Given the description of an element on the screen output the (x, y) to click on. 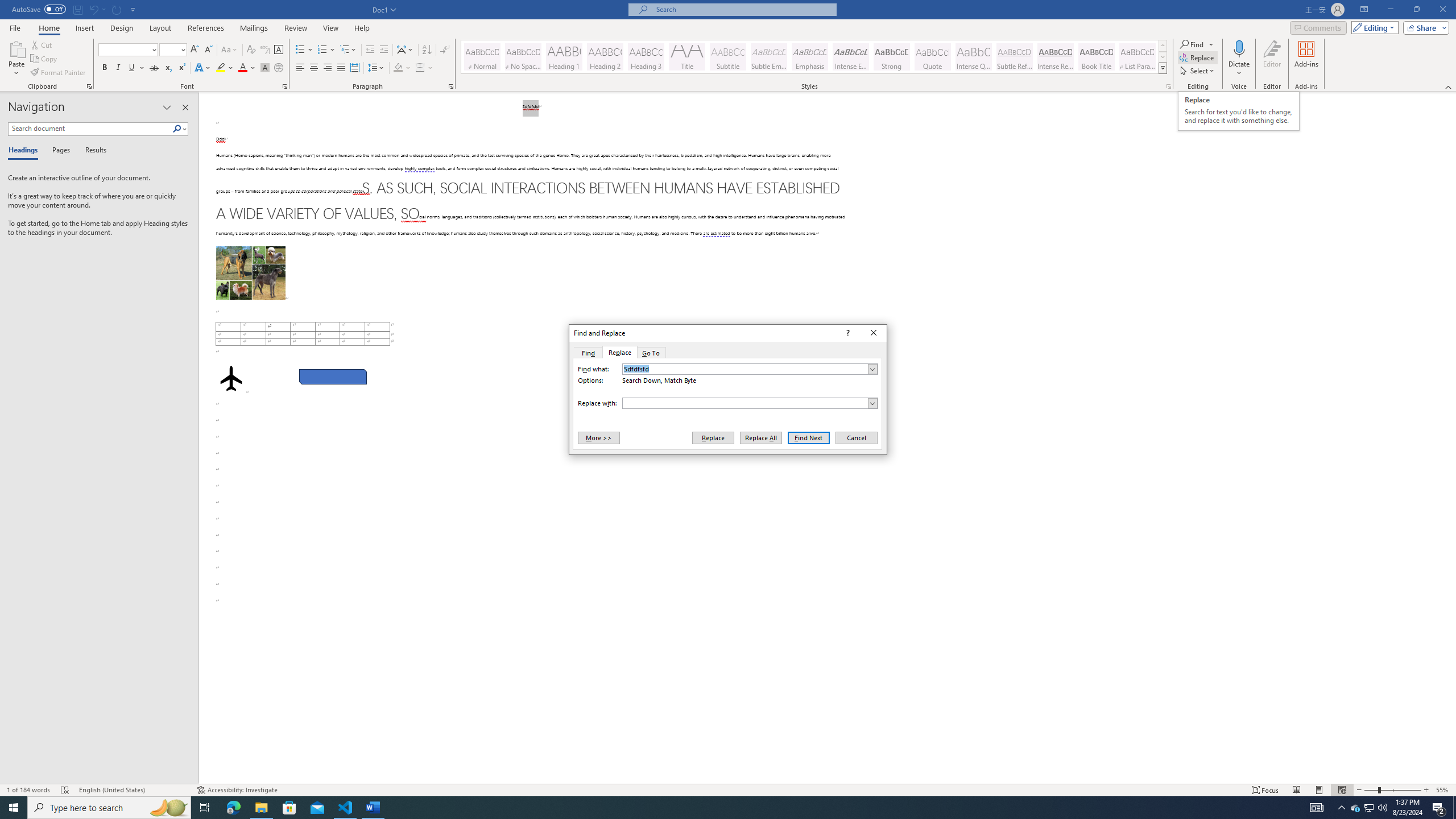
Align Left (300, 67)
Text Effects and Typography (202, 67)
Microsoft Store (289, 807)
Paragraph... (450, 85)
Replace (619, 352)
Styles (1162, 67)
Character Shading (264, 67)
Format Painter (58, 72)
